Given the description of an element on the screen output the (x, y) to click on. 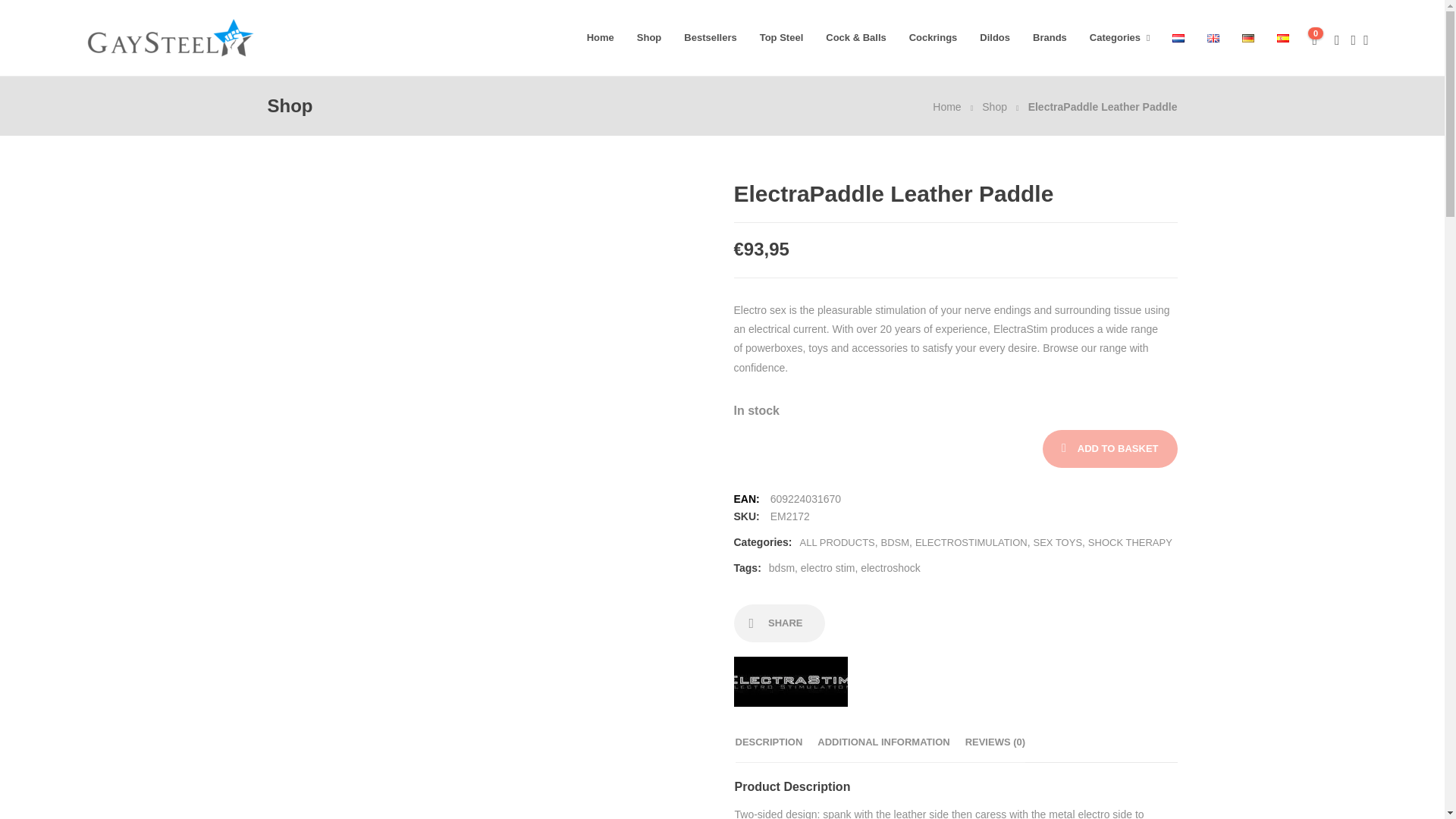
ALL PRODUCTS (837, 542)
ELECTROSTIMULATION (971, 542)
Home (946, 106)
ElectraPaddle Leather Paddle (1102, 106)
Shop (994, 106)
ELECTRASTIM (790, 689)
ADD TO BASKET (1109, 448)
BDSM (895, 542)
Home (946, 106)
Products (994, 106)
